Given the description of an element on the screen output the (x, y) to click on. 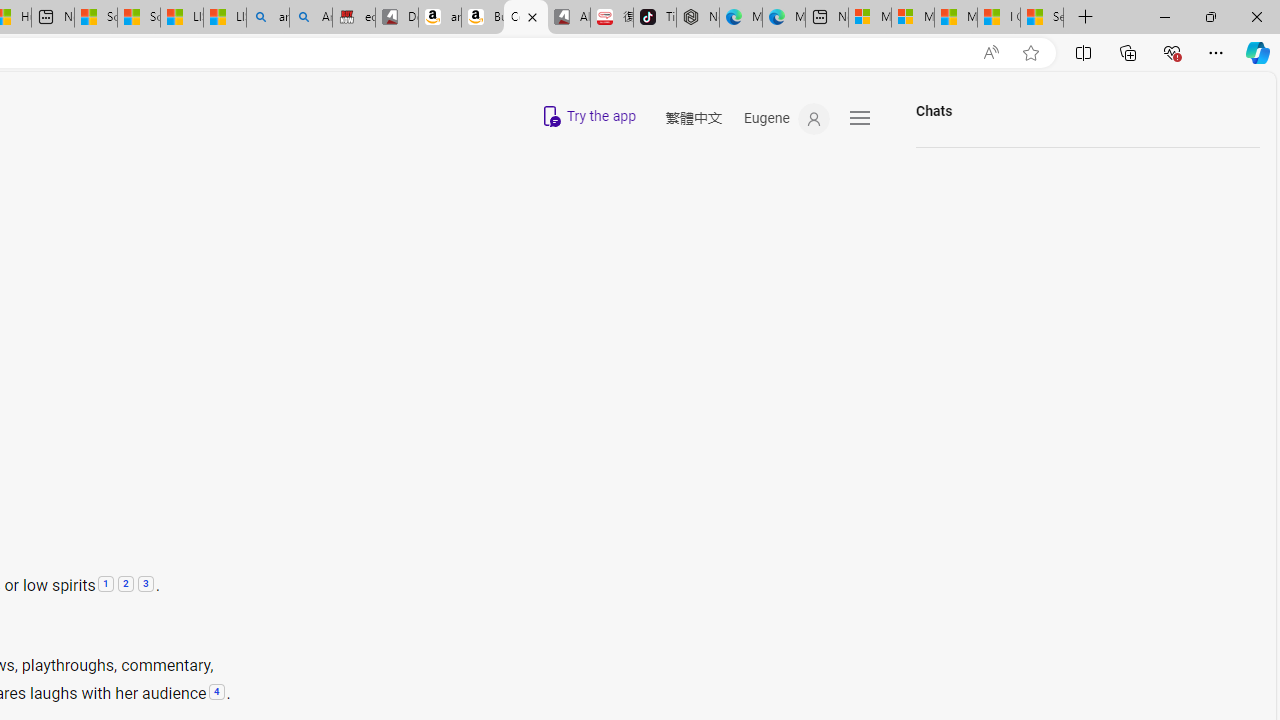
1: Melancholy or Depression: (105, 585)
All Cubot phones (568, 17)
Eugene (786, 119)
